Given the description of an element on the screen output the (x, y) to click on. 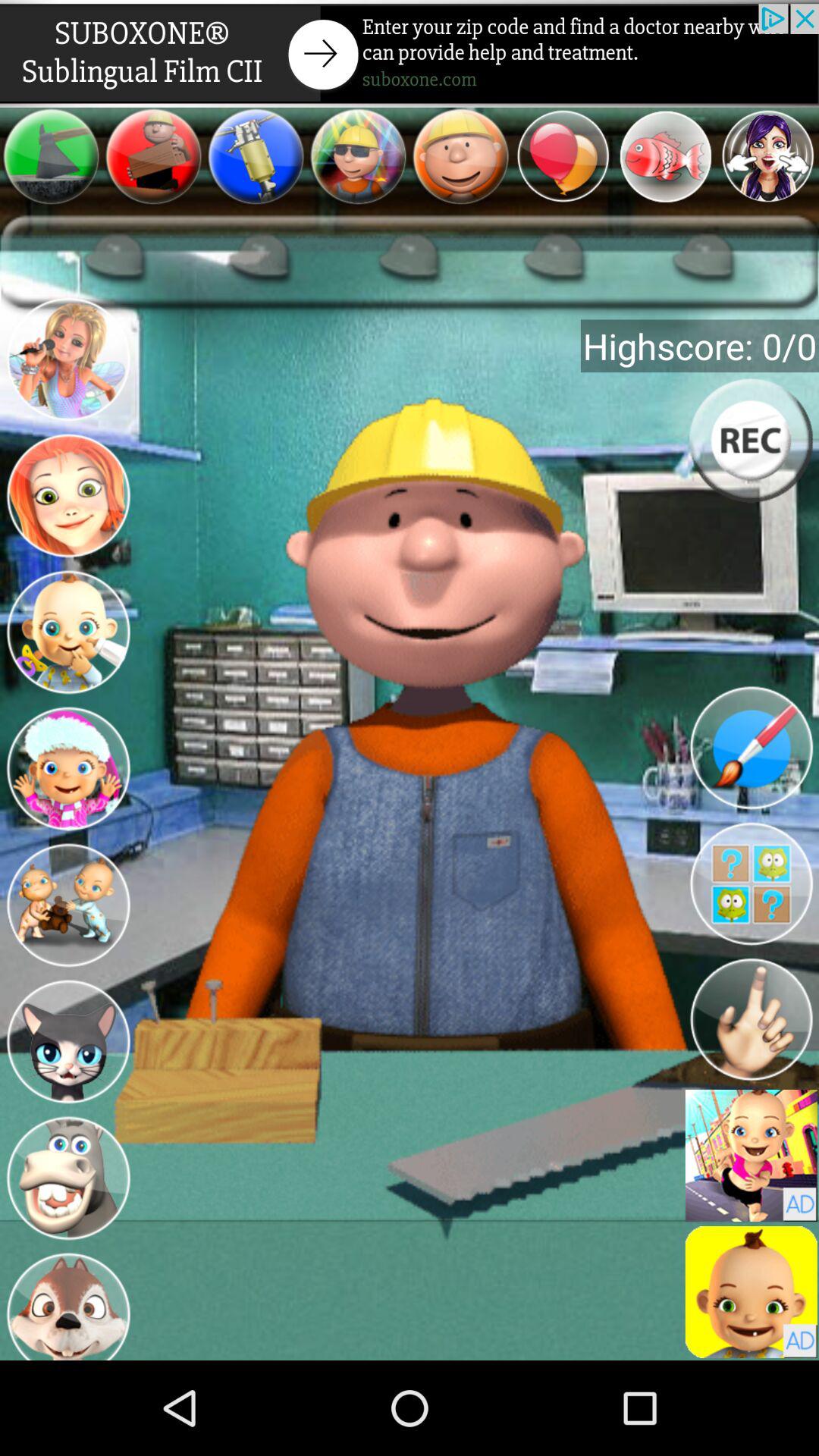
go to picture (68, 1303)
